Given the description of an element on the screen output the (x, y) to click on. 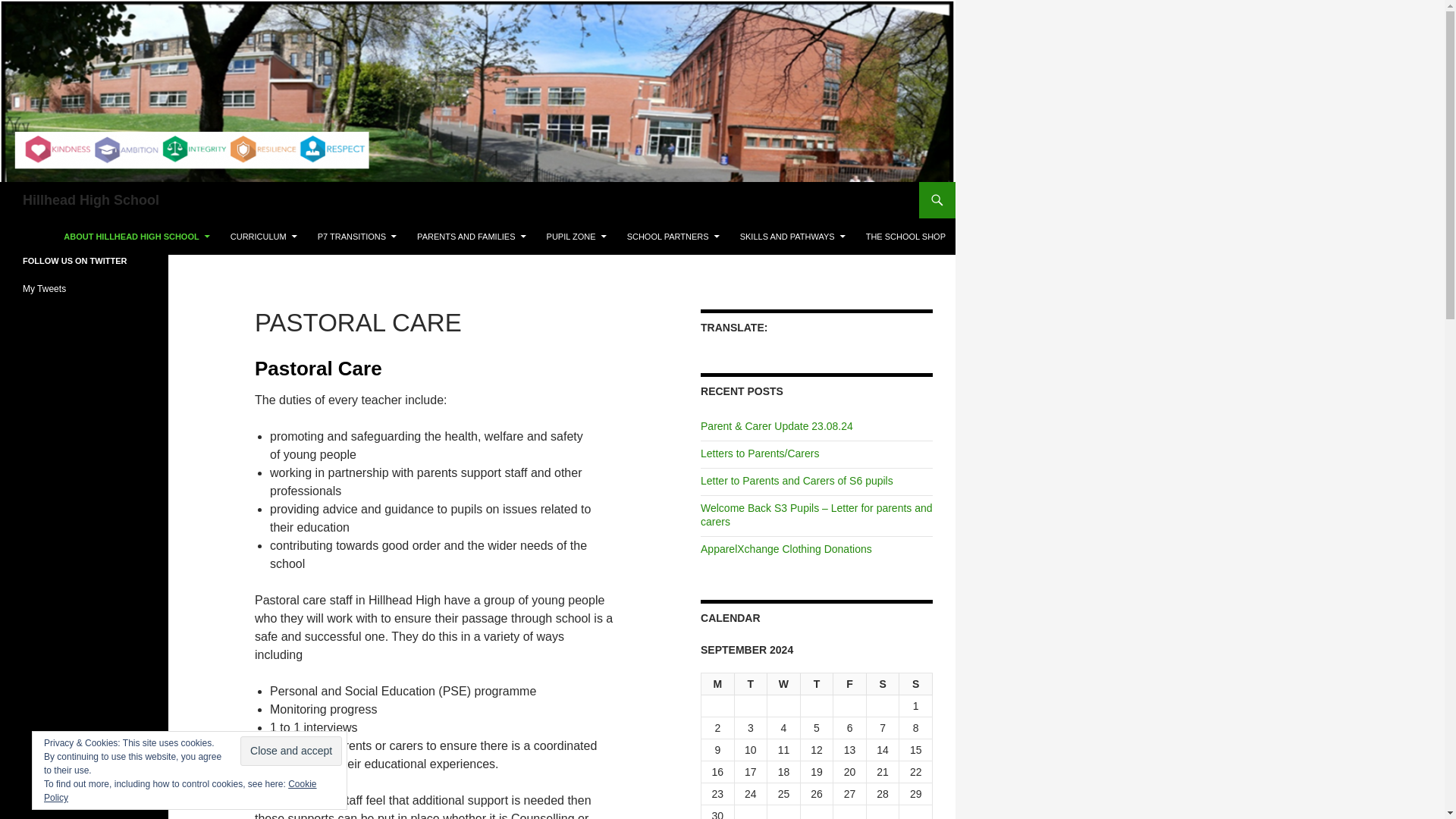
Hillhead High School (90, 199)
Sunday (916, 684)
Wednesday (783, 684)
Saturday (882, 684)
Close and accept (291, 750)
Thursday (817, 684)
Friday (849, 684)
Monday (718, 684)
